Given the description of an element on the screen output the (x, y) to click on. 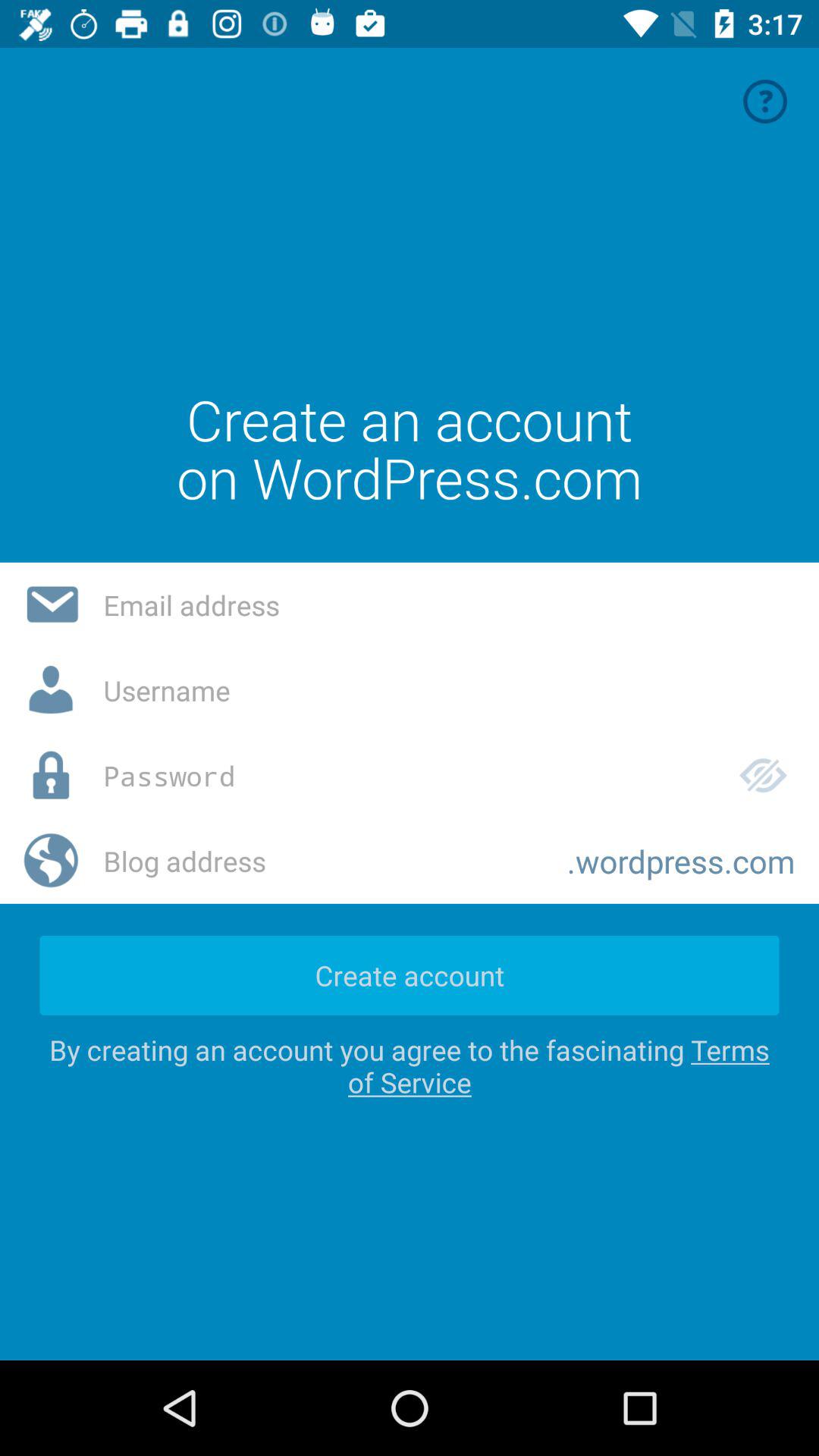
click the icon above the .wordpress.com (763, 775)
